Given the description of an element on the screen output the (x, y) to click on. 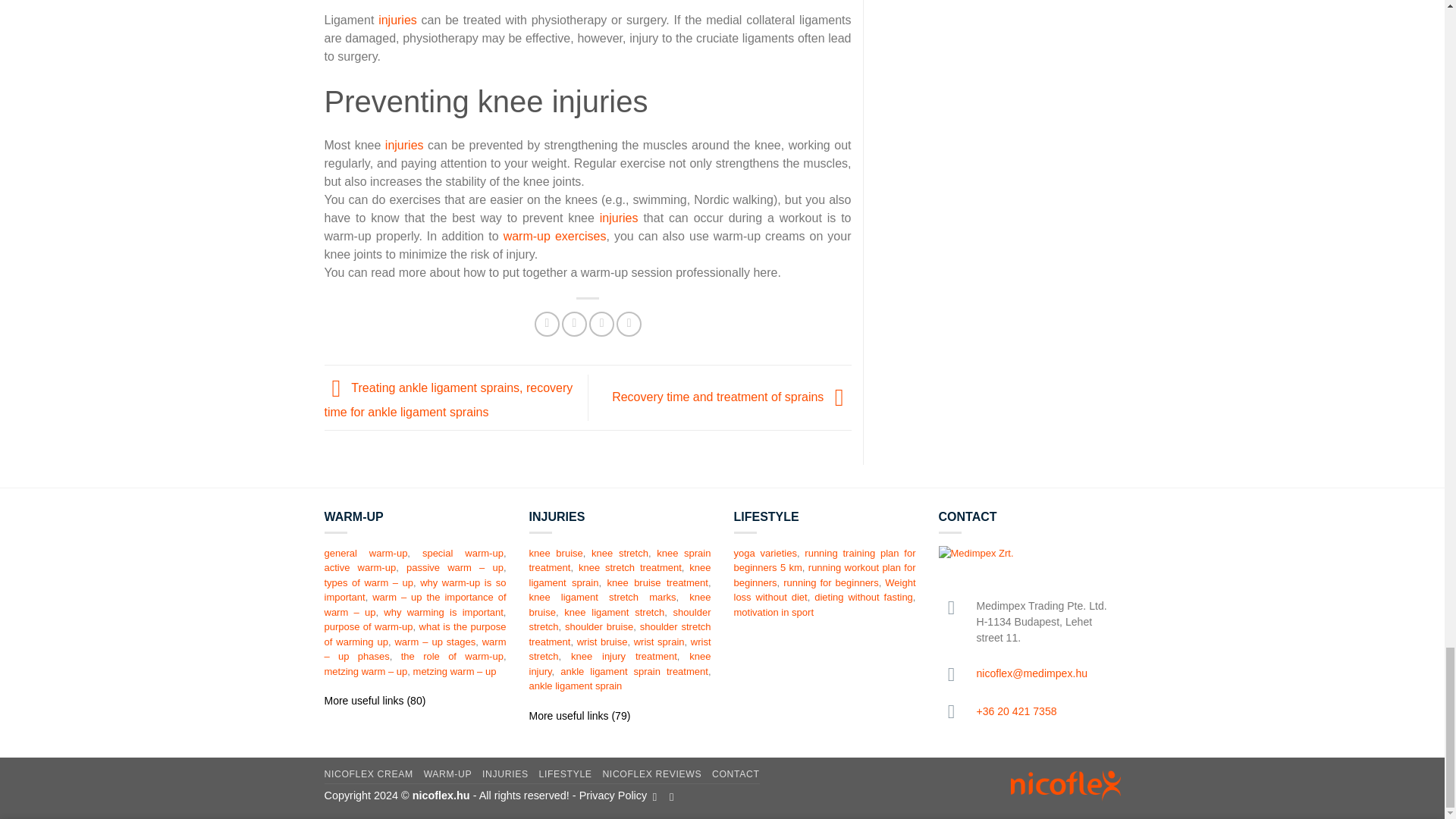
injuries (619, 217)
injuries (397, 19)
Read more here injuries (619, 217)
warm-up exercises (555, 236)
Read more here warm-up exercises (555, 236)
injuries (404, 144)
Read more here injuries (404, 144)
Read more here injuries (397, 19)
